Given the description of an element on the screen output the (x, y) to click on. 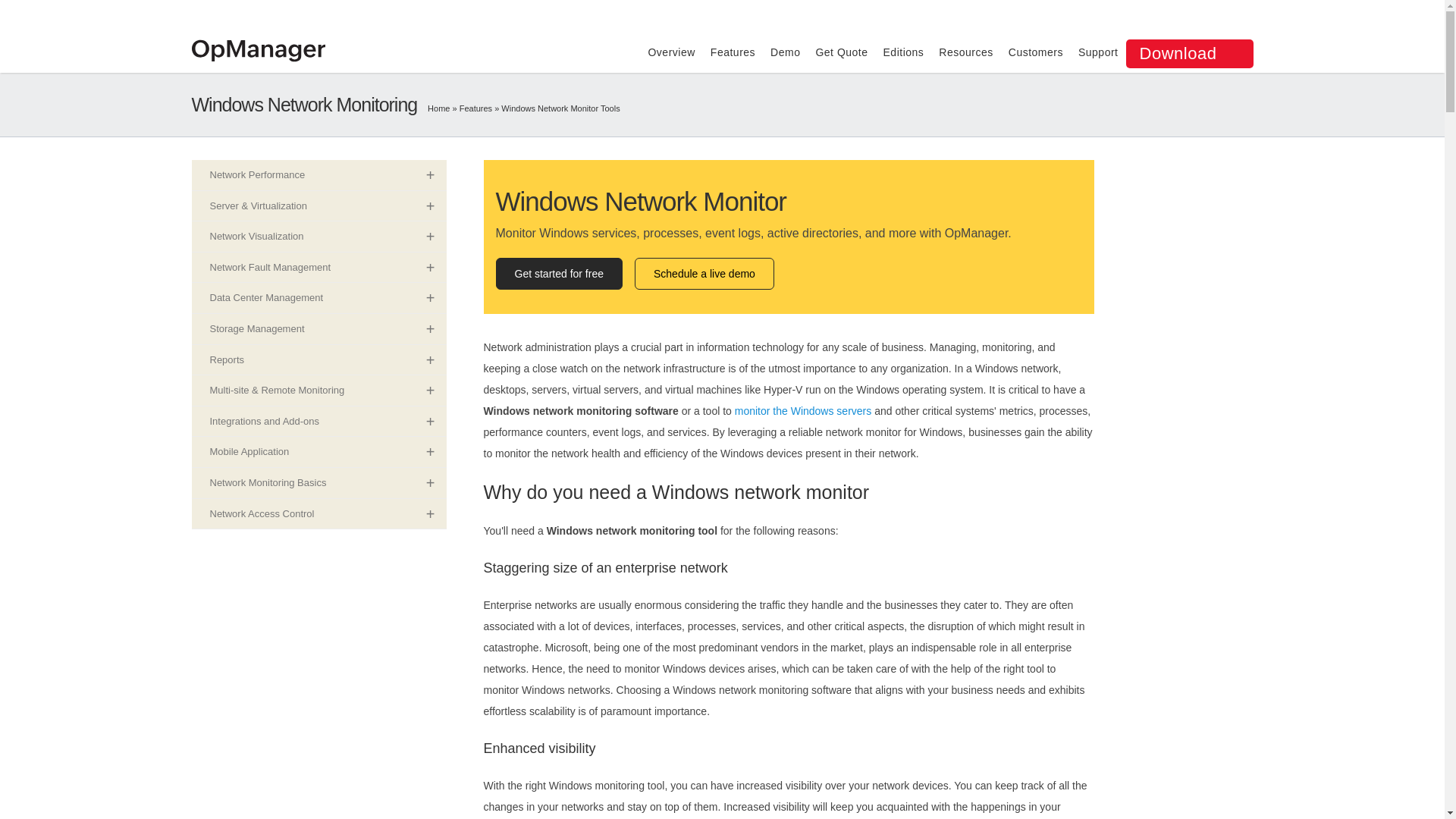
Support (1098, 51)
Editions - ManageEngine OpManager (903, 51)
Features (476, 108)
Editions (903, 51)
Features (476, 108)
Overview (670, 51)
Customers (1035, 51)
Overview - ManageEngine OpManager (670, 51)
Features (732, 51)
Download ManageEngine OpManager (1188, 53)
Network Monitoring Software - ManageEngine OpManager (257, 50)
Demo (784, 51)
Get Quote (841, 51)
Demo - ManageEngine OpManager (784, 51)
Home (438, 108)
